Given the description of an element on the screen output the (x, y) to click on. 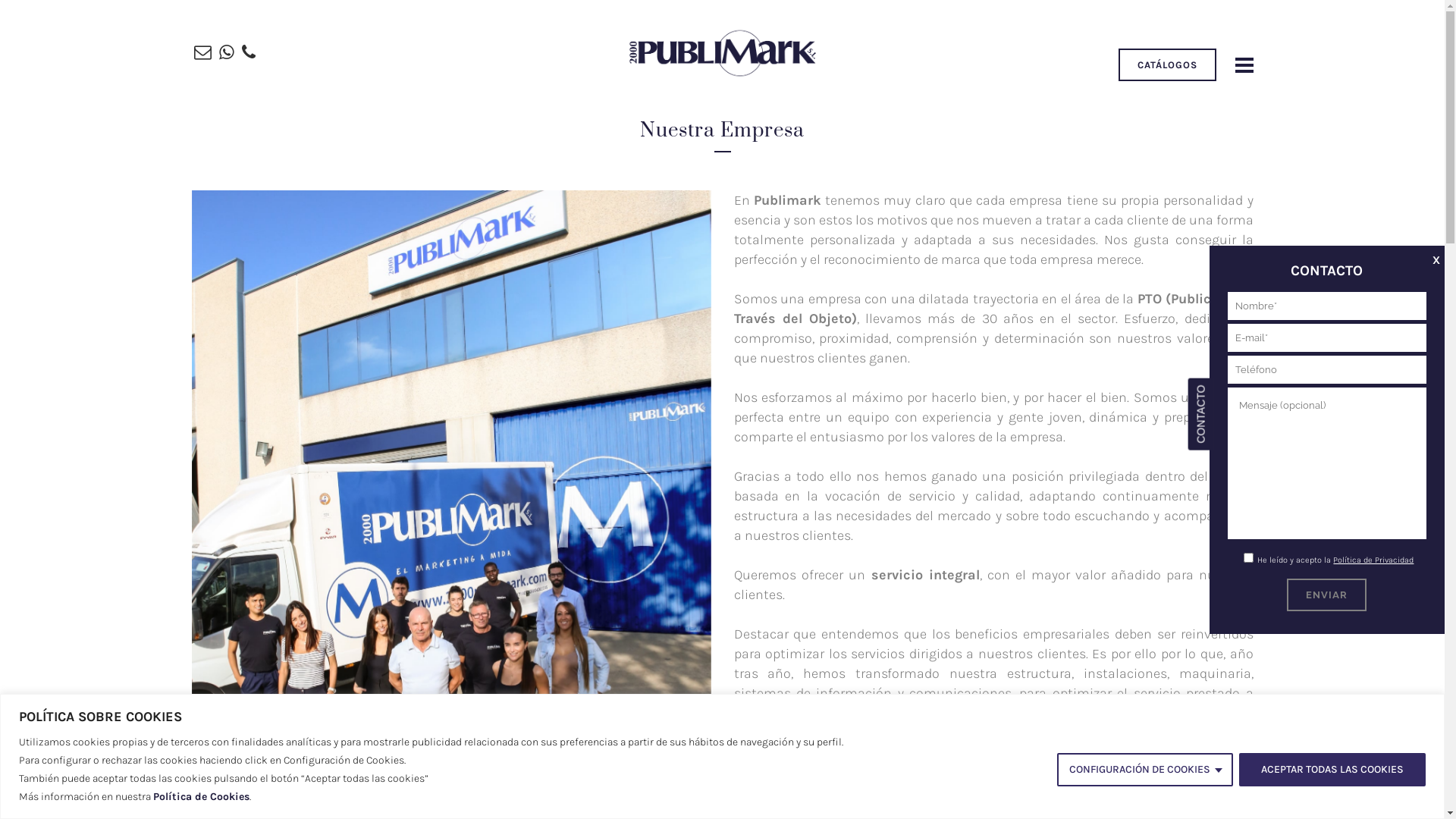
ACEPTAR TODAS LAS COOKIES Element type: text (1332, 768)
Enviar Element type: text (1327, 594)
  Element type: text (1240, 64)
CONTACTO Element type: text (1224, 390)
